Given the description of an element on the screen output the (x, y) to click on. 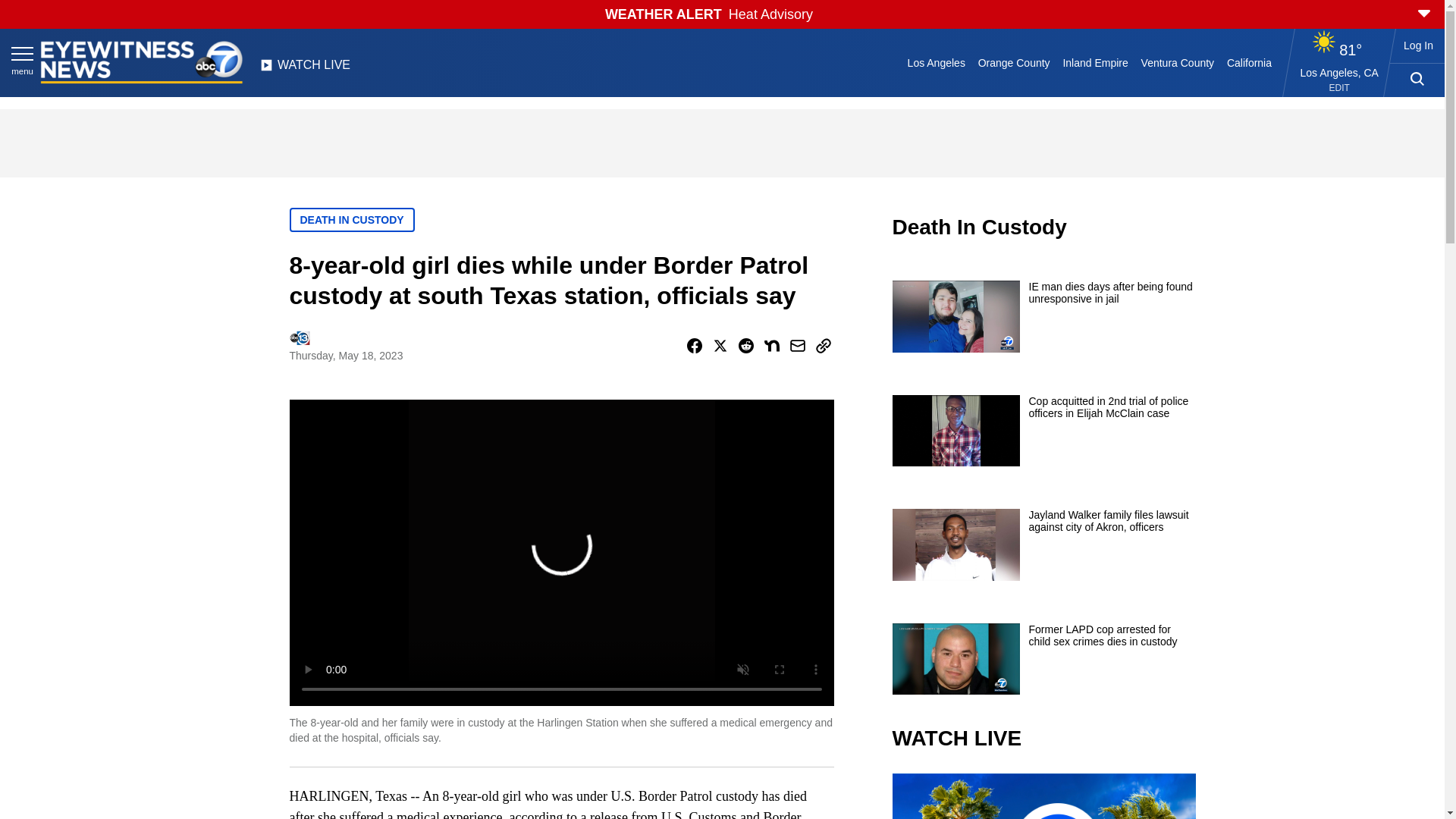
California (1249, 62)
Los Angeles, CA (1339, 72)
Los Angeles (936, 62)
EDIT (1339, 87)
WATCH LIVE (305, 69)
Orange County (1014, 62)
Inland Empire (1095, 62)
Ventura County (1177, 62)
